Given the description of an element on the screen output the (x, y) to click on. 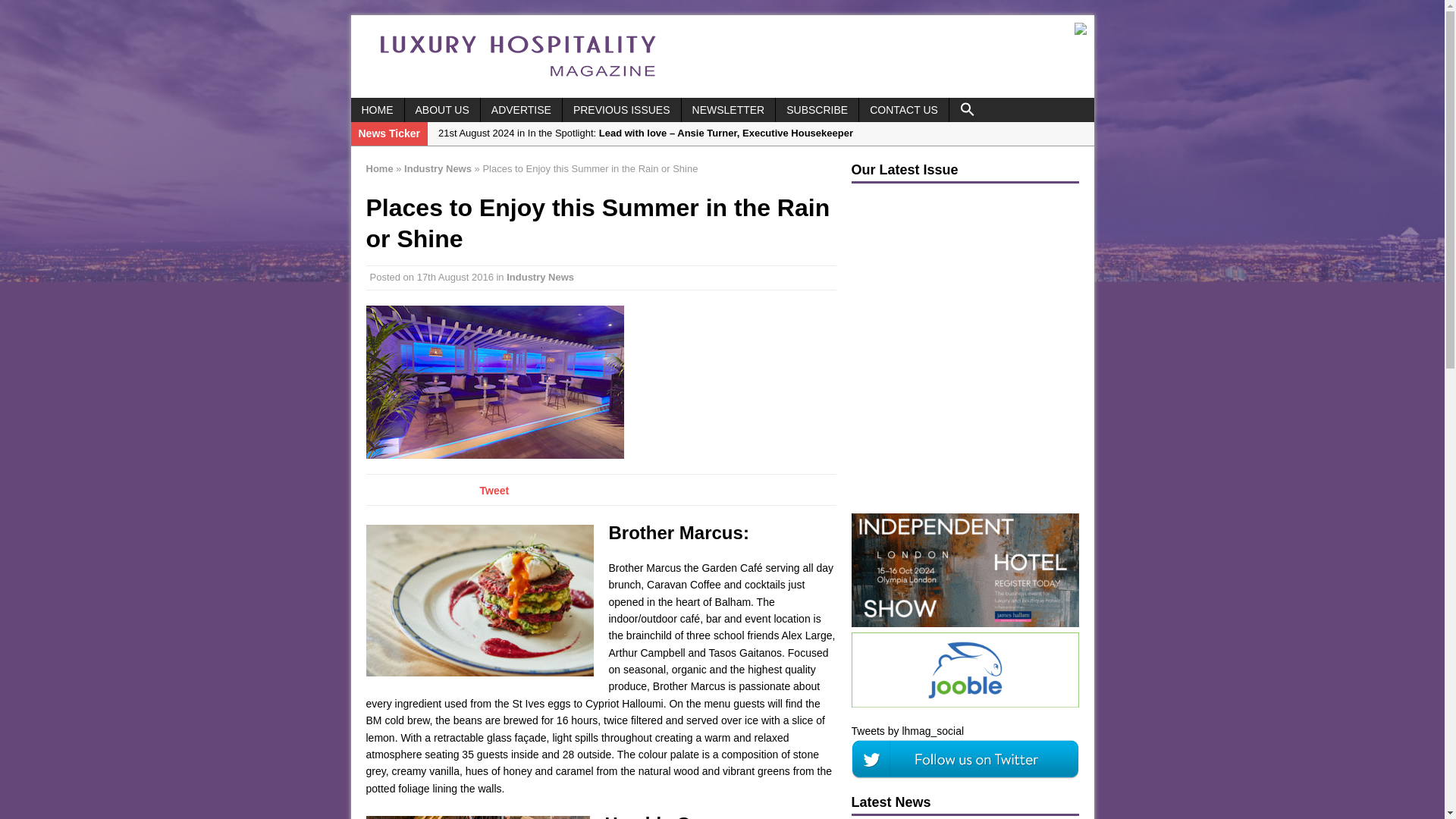
Tweet (493, 490)
CONTACT US (904, 109)
ADVERTISE (521, 109)
SUBSCRIBE (817, 109)
HOME (376, 109)
NEWSLETTER (728, 109)
Industry News (437, 168)
Home (379, 168)
ABOUT US (442, 109)
Luxury Hospitality Magazine (517, 81)
